Given the description of an element on the screen output the (x, y) to click on. 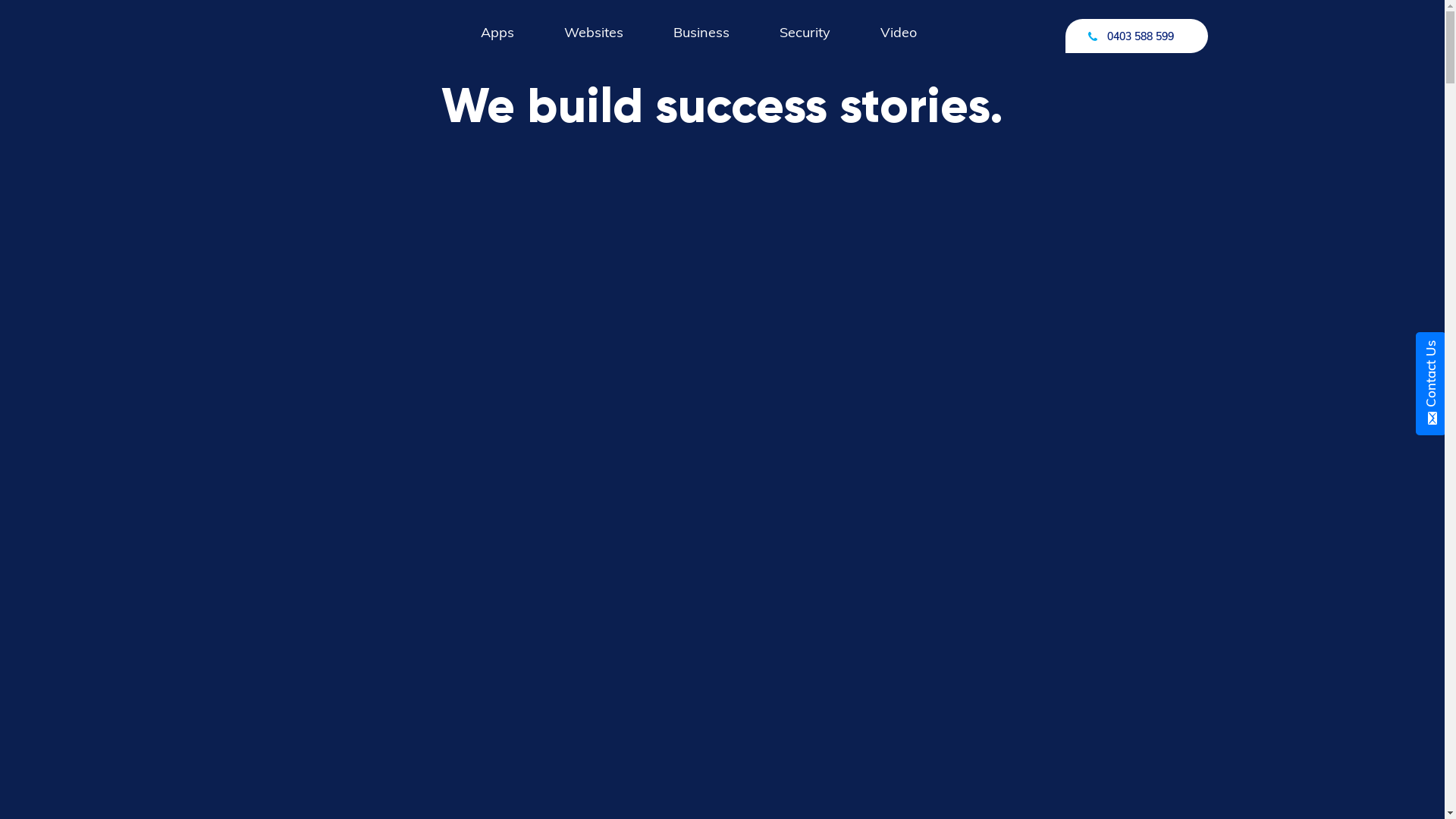
Video Element type: text (898, 44)
Security Element type: text (804, 44)
Apps Element type: text (497, 44)
0403 588 599 Element type: text (1135, 35)
Business Element type: text (701, 44)
Websites Element type: text (593, 44)
